Given the description of an element on the screen output the (x, y) to click on. 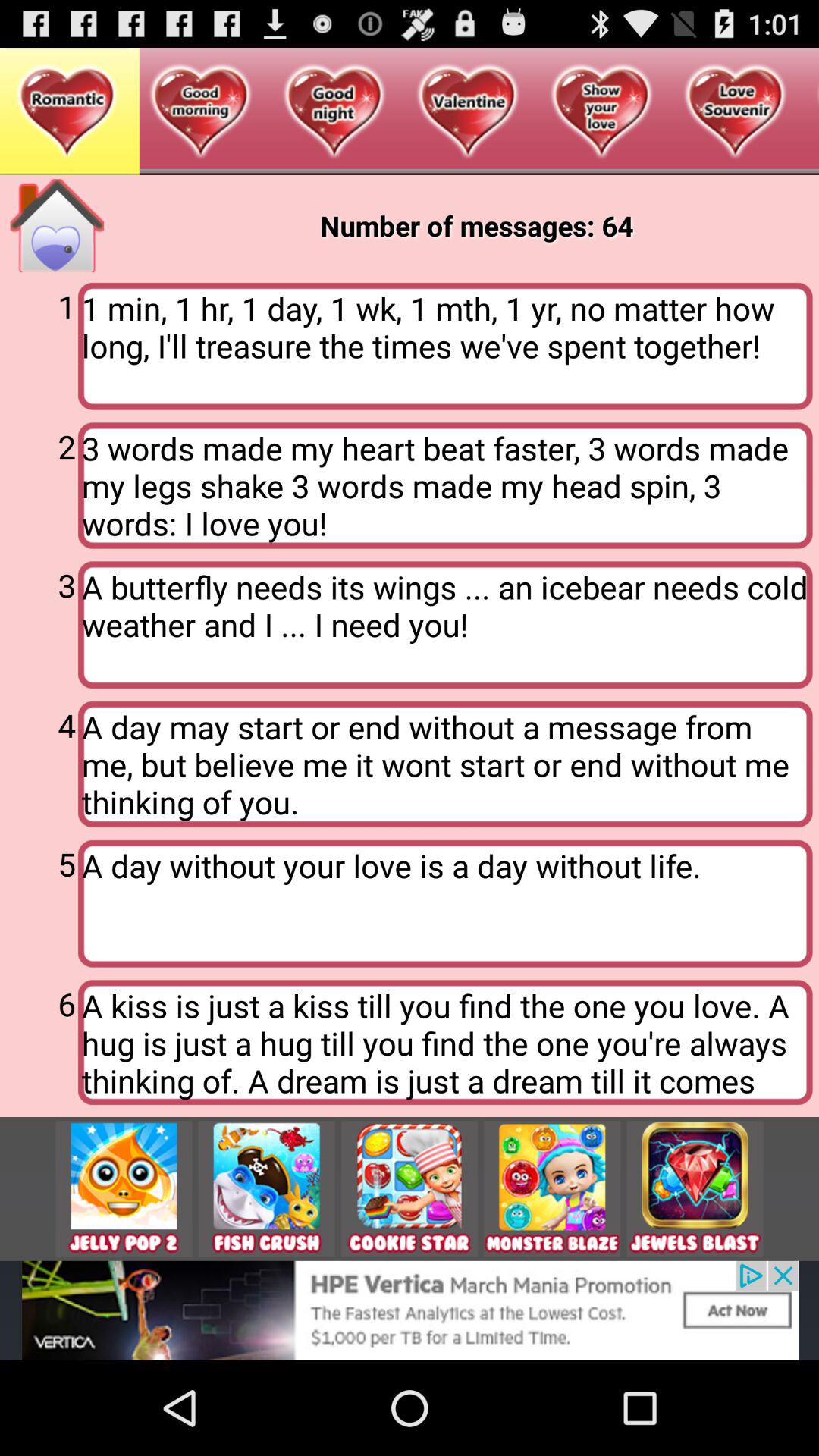
get game (409, 1188)
